Given the description of an element on the screen output the (x, y) to click on. 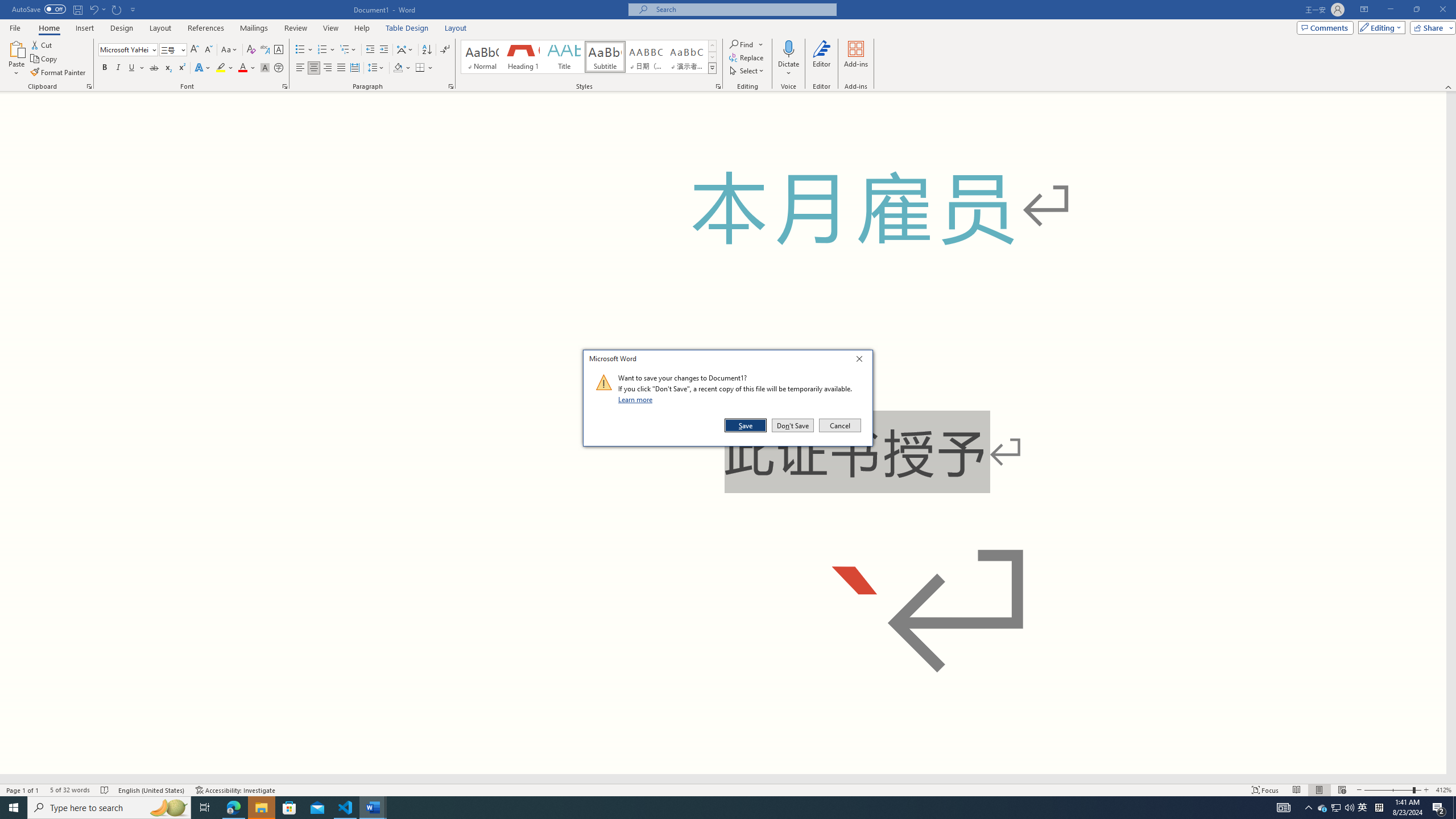
Zoom 412% (1443, 790)
Repeat Superscript (117, 9)
Word Count 5 of 32 words (69, 790)
Word - 2 running windows (373, 807)
